Given the description of an element on the screen output the (x, y) to click on. 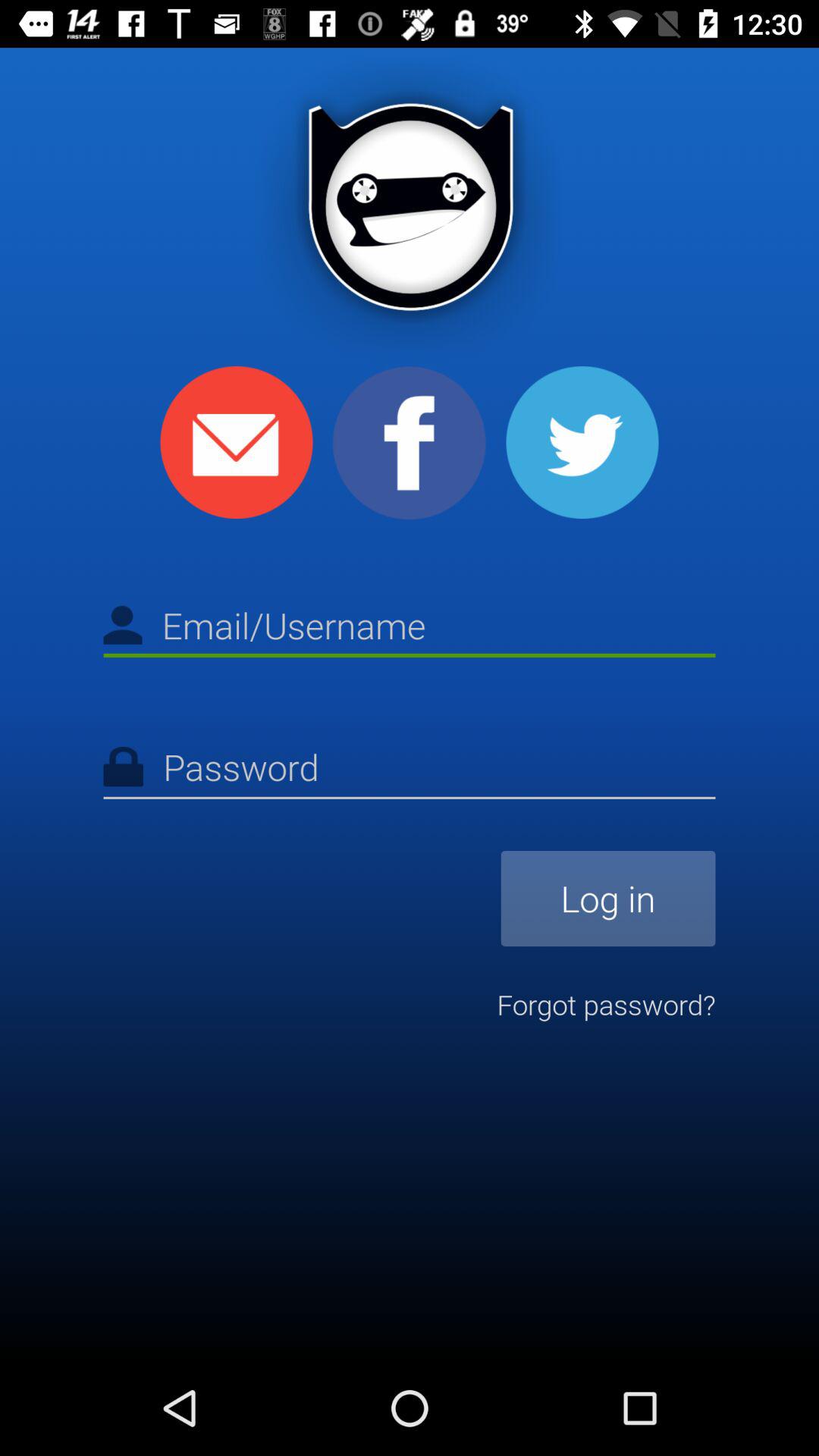
scroll until the forgot password? item (606, 1004)
